Given the description of an element on the screen output the (x, y) to click on. 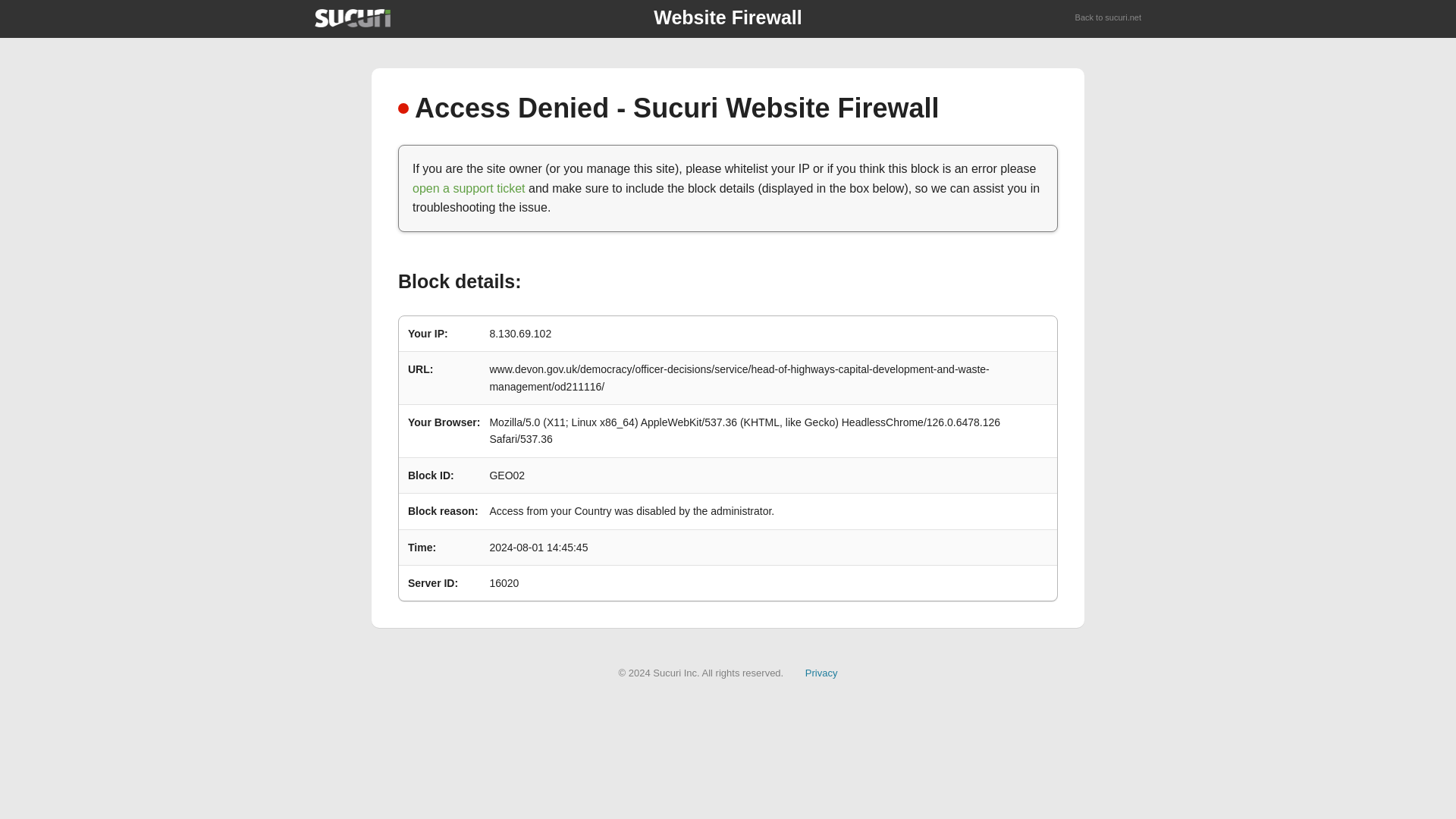
open a support ticket (468, 187)
Privacy (821, 672)
Back to sucuri.net (1108, 18)
